Given the description of an element on the screen output the (x, y) to click on. 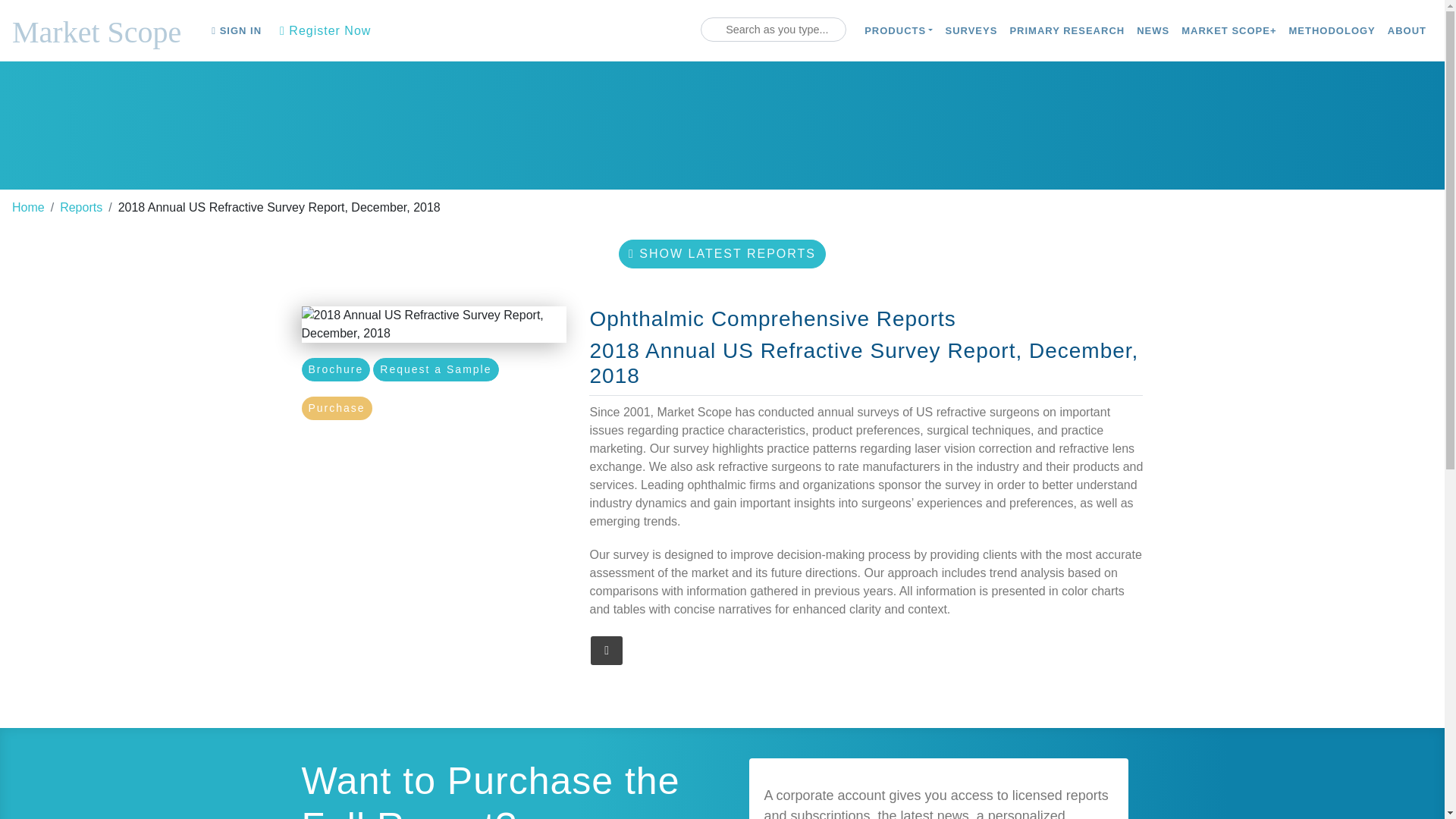
SIGN IN (236, 31)
Reports (80, 206)
Request a Sample (434, 369)
SURVEYS (971, 31)
ABOUT (1406, 31)
Brochure (336, 369)
PRIMARY RESEARCH (1067, 31)
NEWS (1152, 31)
Purchase (336, 408)
PRODUCTS (899, 31)
